Given the description of an element on the screen output the (x, y) to click on. 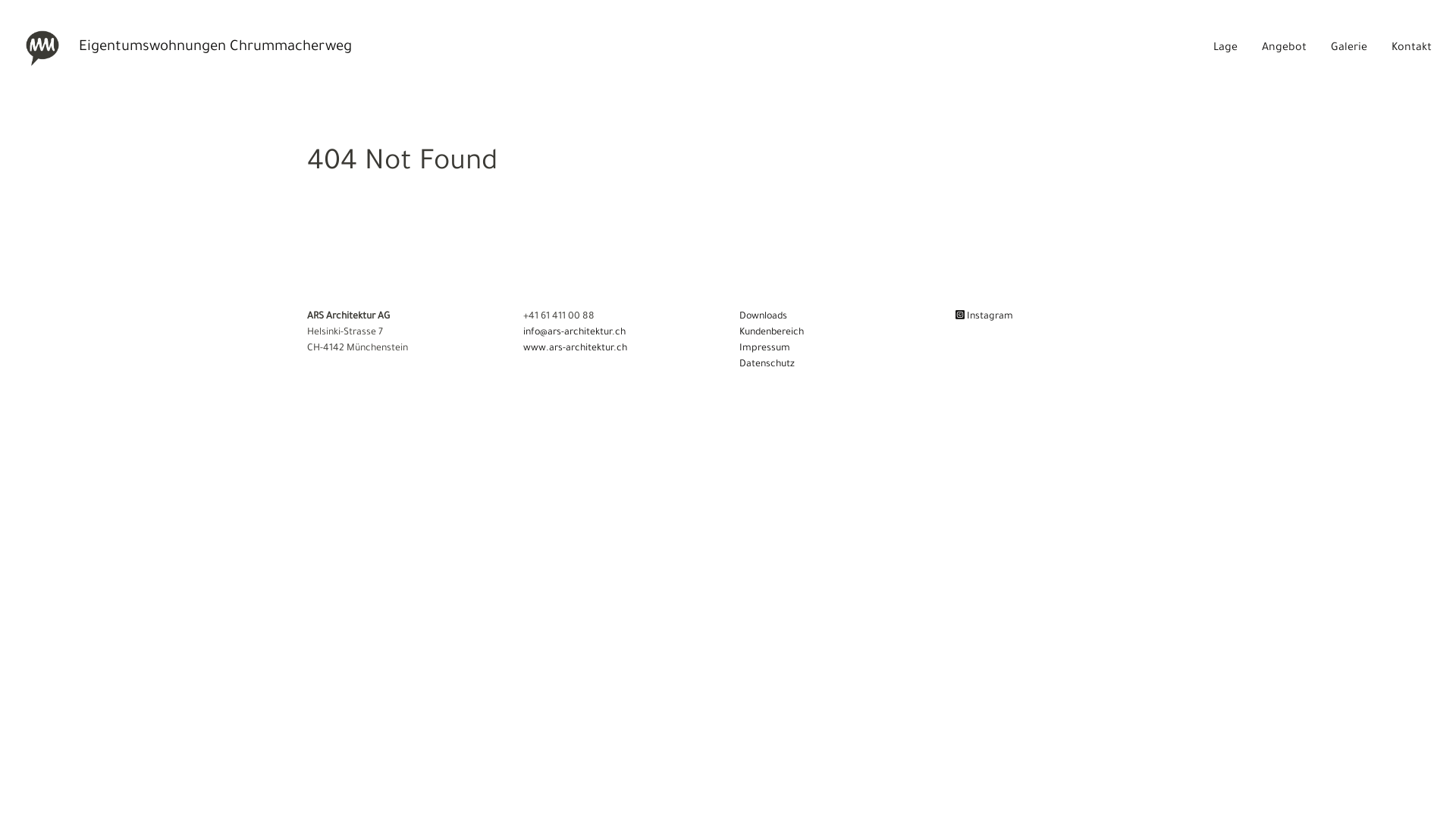
Eigentumswohnungen Chrummacherweg Element type: text (187, 48)
www.ars-architektur.ch Element type: text (575, 348)
Instagram Element type: text (984, 316)
Angebot Element type: text (1283, 48)
Kundenbereich Element type: text (771, 332)
Galerie Element type: text (1348, 48)
Datenschutz Element type: text (766, 364)
Impressum Element type: text (764, 348)
Kontakt Element type: text (1411, 48)
Downloads Element type: text (763, 316)
Lage Element type: text (1225, 48)
info@ars-architektur.ch Element type: text (574, 332)
